Given the description of an element on the screen output the (x, y) to click on. 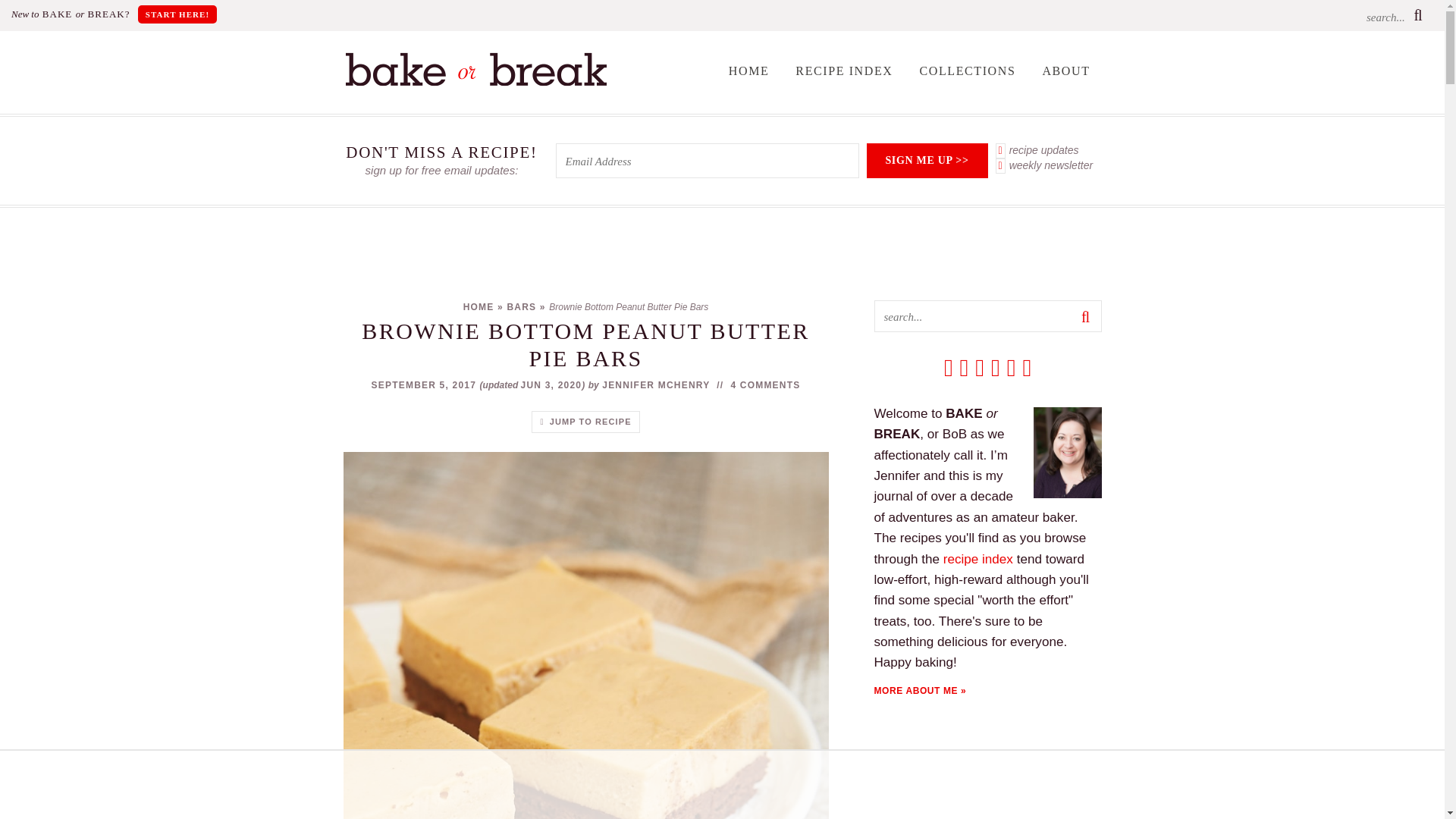
RECIPE INDEX (844, 70)
ABOUT (1065, 70)
JENNIFER MCHENRY (656, 385)
HOME (479, 307)
4 COMMENTS (764, 385)
Bake or Break (475, 82)
JUMP TO RECIPE (585, 422)
HOME (748, 70)
COLLECTIONS (966, 70)
START HERE! (177, 13)
BARS (520, 307)
